Given the description of an element on the screen output the (x, y) to click on. 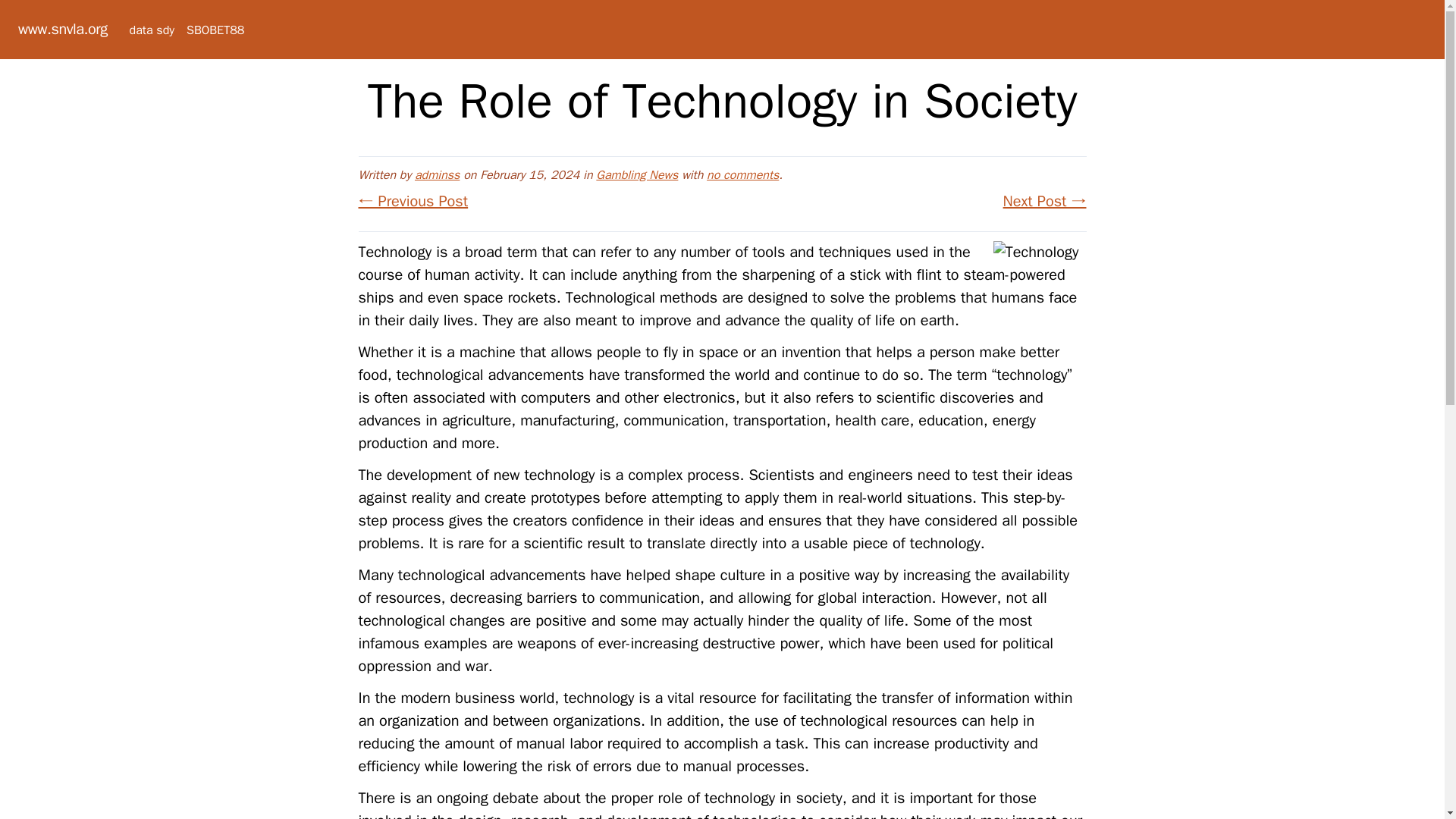
adminss (437, 174)
www.snvla.org (62, 29)
no comments (742, 174)
Gambling News (636, 174)
data sdy (151, 30)
no comments (742, 174)
SBOBET88 (215, 30)
